Given the description of an element on the screen output the (x, y) to click on. 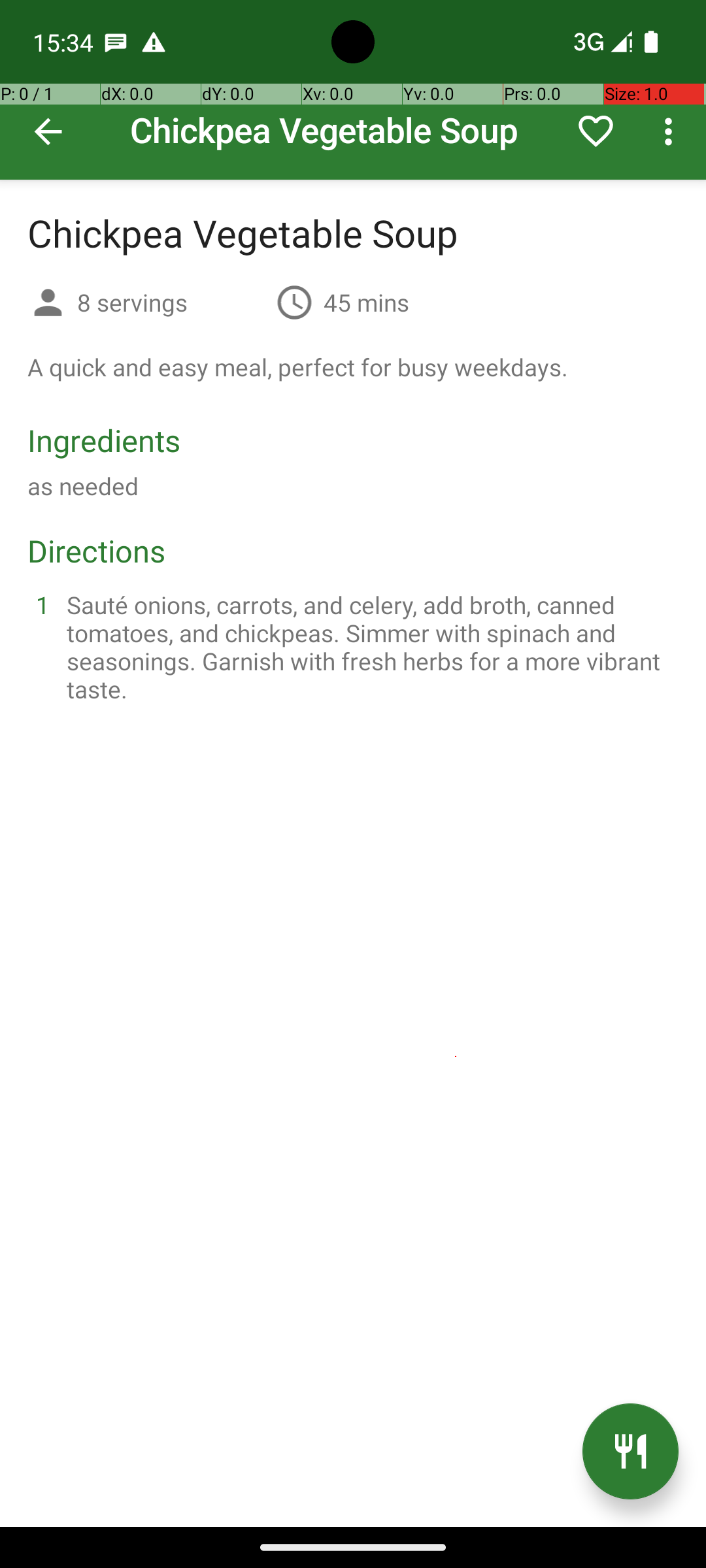
Chickpea Vegetable Soup Element type: android.widget.FrameLayout (353, 89)
8 servings Element type: android.widget.TextView (170, 301)
45 mins Element type: android.widget.TextView (366, 301)
as needed Element type: android.widget.TextView (82, 485)
Sauté onions, carrots, and celery, add broth, canned tomatoes, and chickpeas. Simmer with spinach and seasonings. Garnish with fresh herbs for a more vibrant taste. Element type: android.widget.TextView (368, 646)
